Given the description of an element on the screen output the (x, y) to click on. 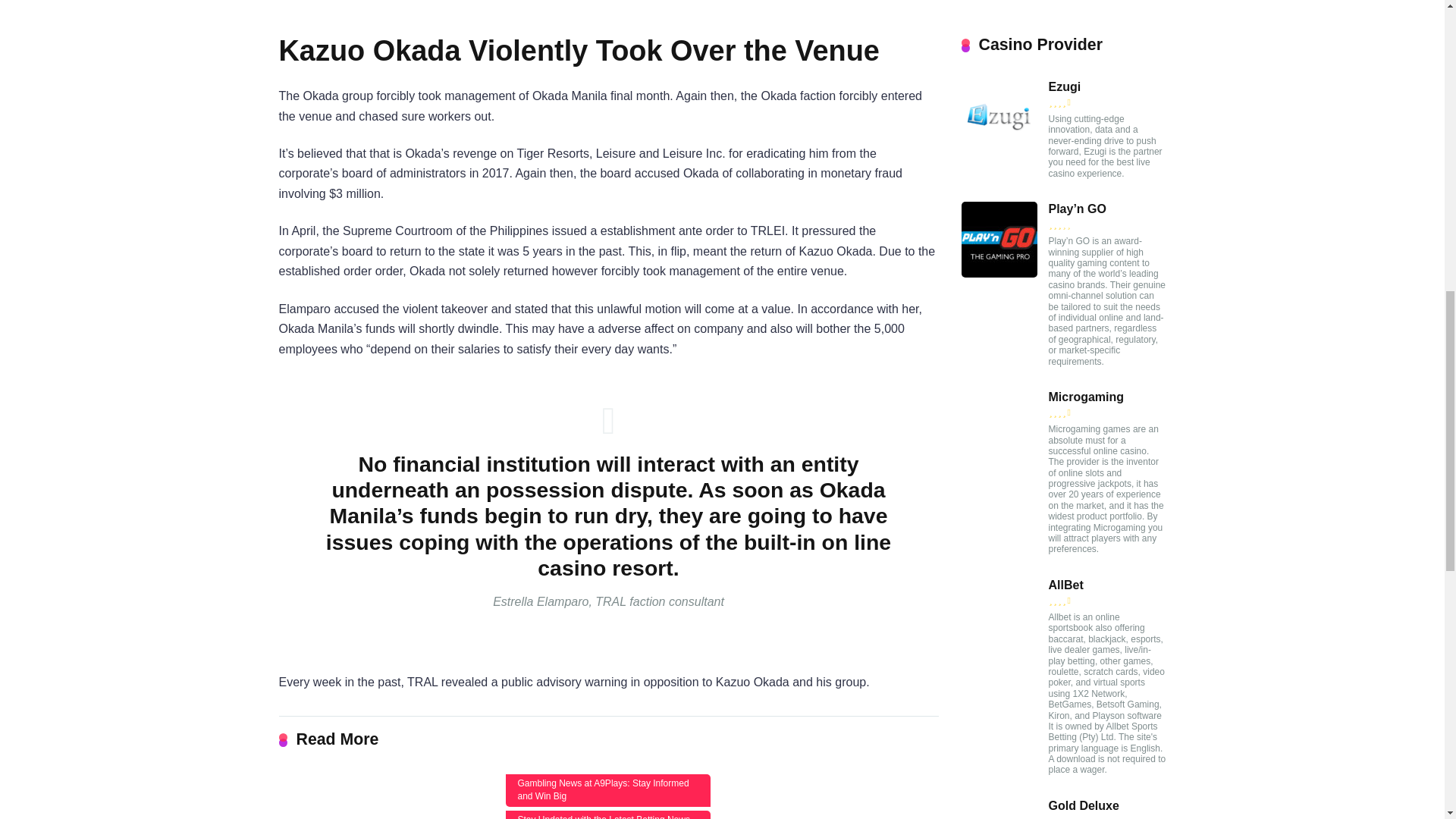
A9 Play Casino Games : Top Benefits Of it (381, 796)
Stay Updated with the Latest Betting News at A9plays (607, 814)
How to withdraw from A9play or A9 Today (835, 796)
Gambling News at A9Plays: Stay Informed and Win Big (607, 789)
